Given the description of an element on the screen output the (x, y) to click on. 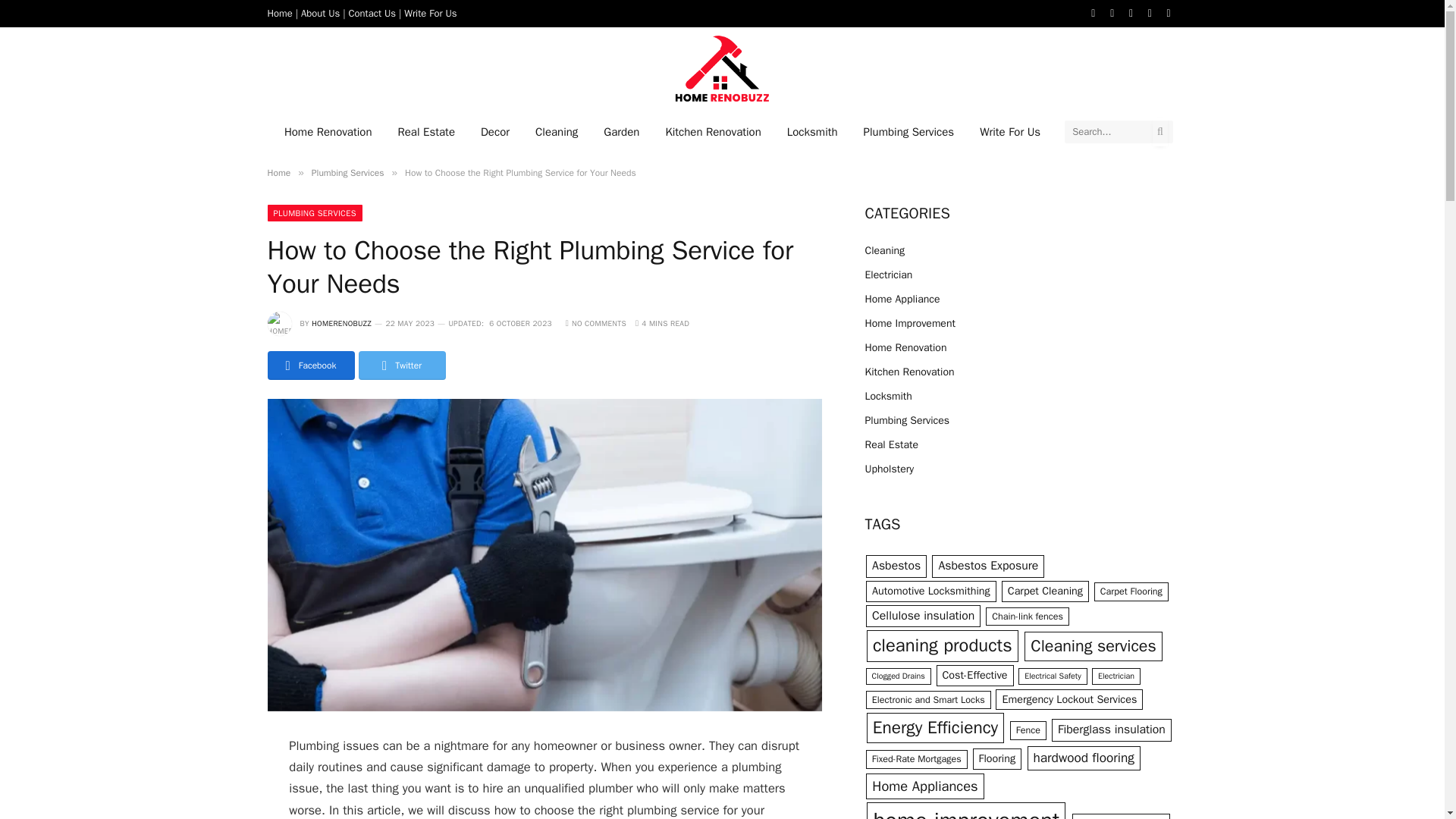
Write For Us (430, 12)
Home (279, 12)
Plumbing Services (909, 131)
Posts by Homerenobuzz (341, 323)
Decor (494, 131)
Share on Facebook (309, 365)
Locksmith (812, 131)
Real Estate (426, 131)
About Us (320, 12)
Write For Us (1009, 131)
